Given the description of an element on the screen output the (x, y) to click on. 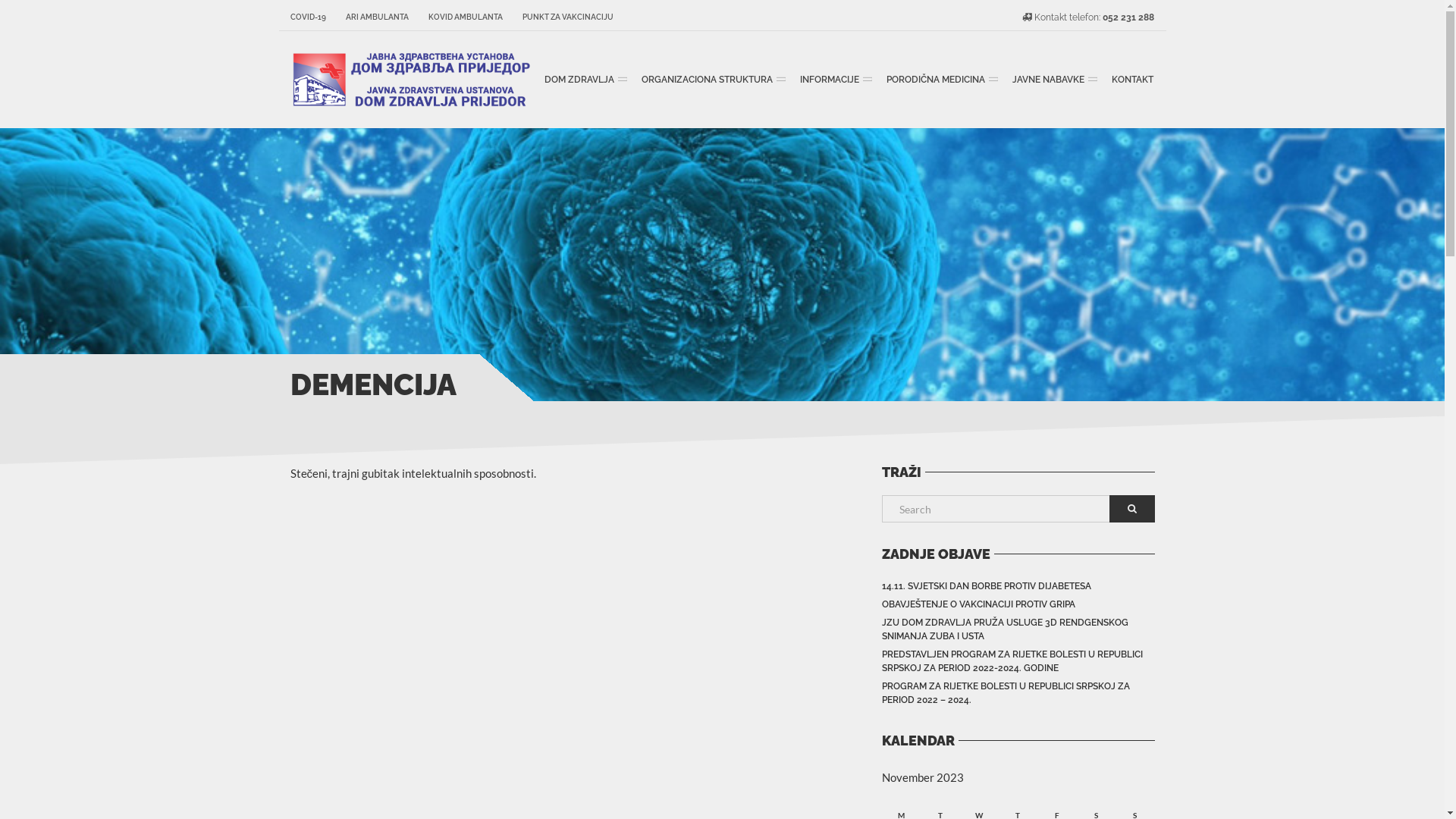
KONTAKT Element type: text (1131, 79)
JAVNE NABAVKE Element type: text (1051, 79)
ORGANIZACIONA STRUKTURA Element type: text (709, 79)
PUNKT ZA VAKCINACIJU Element type: text (562, 17)
ARI AMBULANTA Element type: text (376, 17)
DOM ZDRAVLJA Element type: text (581, 79)
14.11. SVJETSKI DAN BORBE PROTIV DIJABETESA Element type: text (985, 586)
KOVID AMBULANTA Element type: text (465, 17)
INFORMACIJE Element type: text (833, 79)
COVID-19 Element type: text (312, 17)
